Given the description of an element on the screen output the (x, y) to click on. 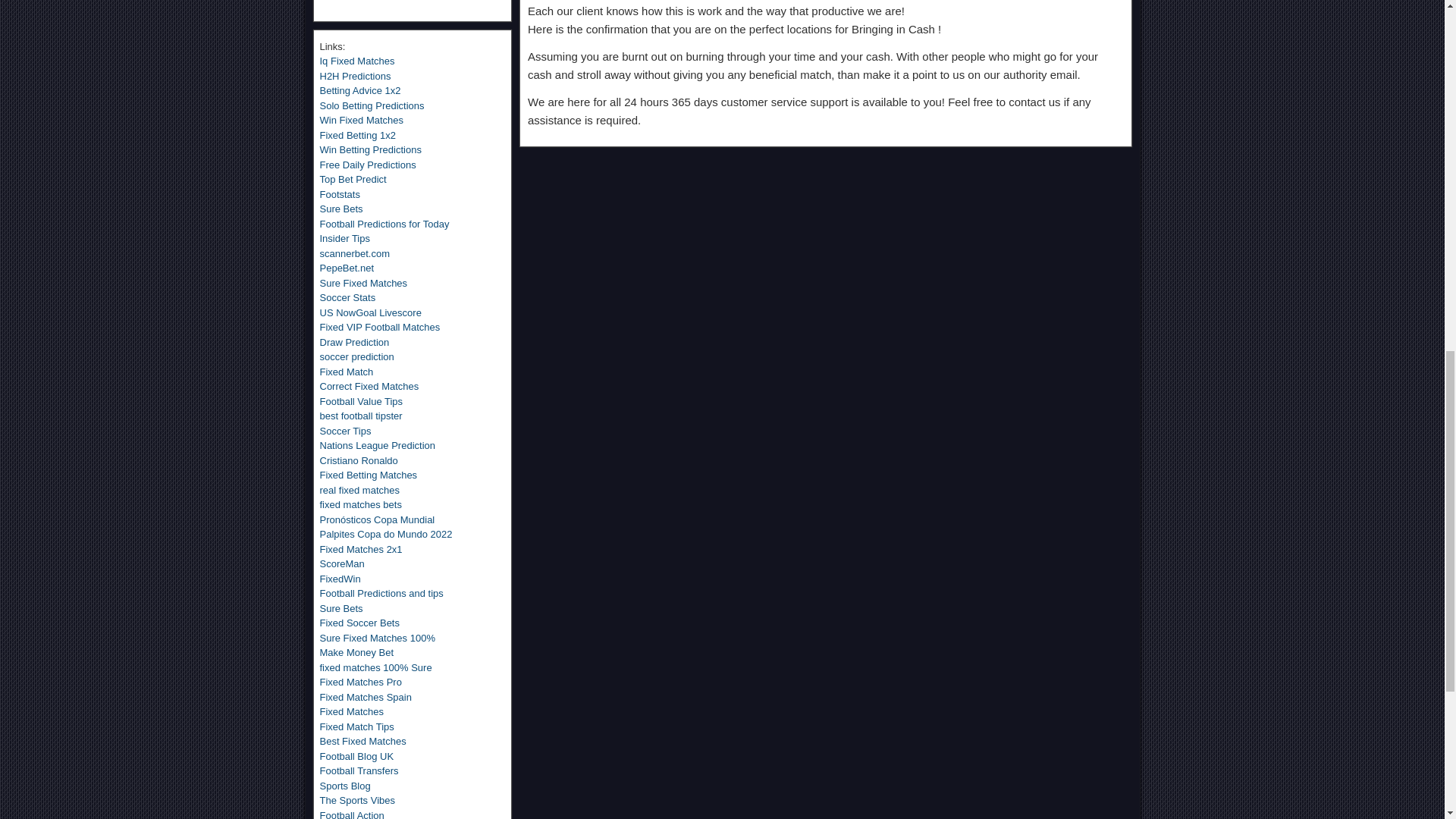
H2H Predictions (355, 75)
Top Bet Predict (353, 179)
Sure Fixed Matches (363, 283)
Fixed Betting 1x2 (358, 134)
Soccer Stats (347, 297)
Solo Betting Predictions (372, 105)
Win Betting Predictions (371, 149)
Insider Tips (344, 238)
PepeBet.net (347, 267)
Football Predictions for Today (384, 224)
Betting Advice 1x2 (360, 90)
Sure Bets (341, 208)
Iq Fixed Matches (357, 60)
Free Daily Predictions (368, 164)
scannerbet.com (355, 253)
